Given the description of an element on the screen output the (x, y) to click on. 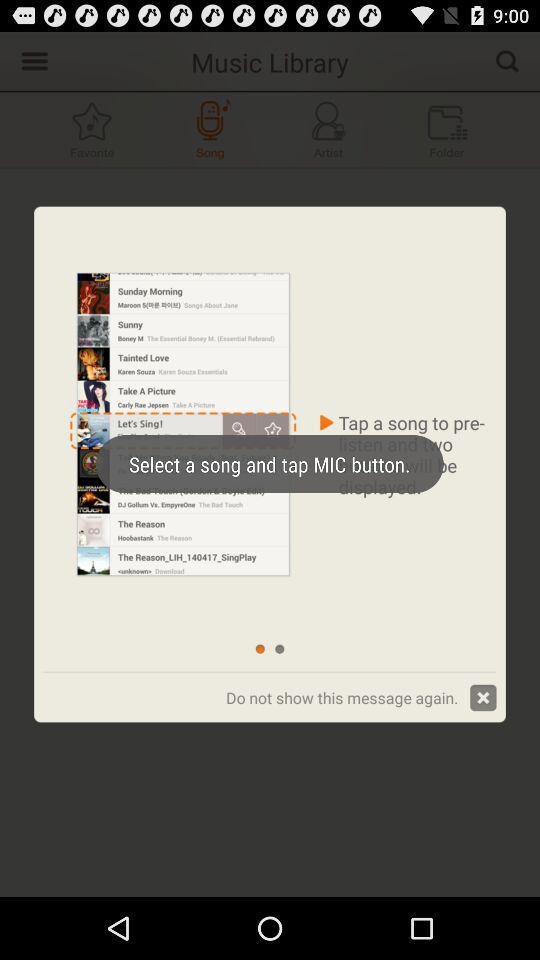
artist (328, 129)
